Given the description of an element on the screen output the (x, y) to click on. 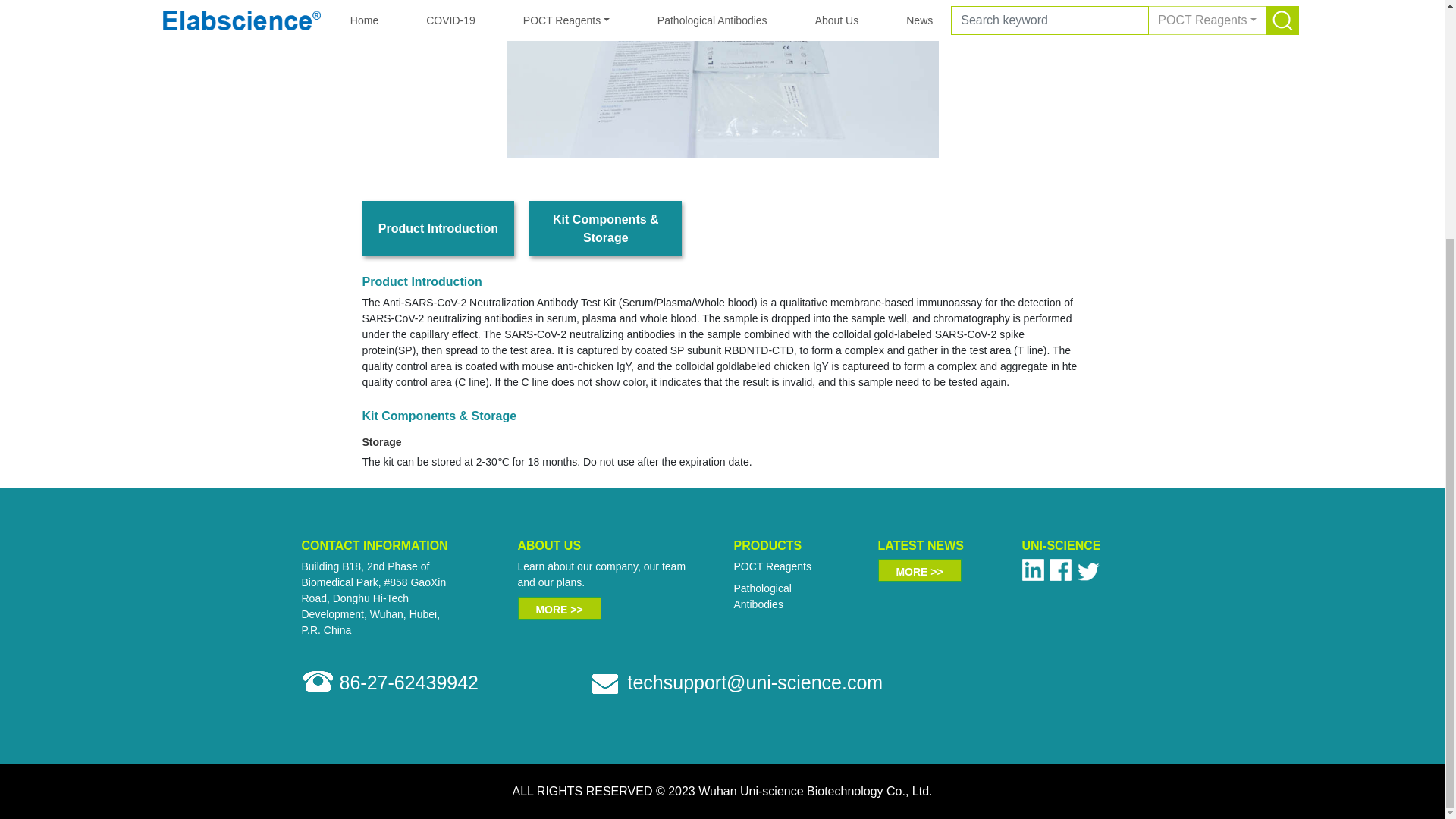
POCT Reagents (771, 566)
Next (1028, 79)
86-27-62439942 (409, 681)
Pathological Antibodies (762, 596)
Product Introduction (438, 228)
Previous (416, 79)
